Given the description of an element on the screen output the (x, y) to click on. 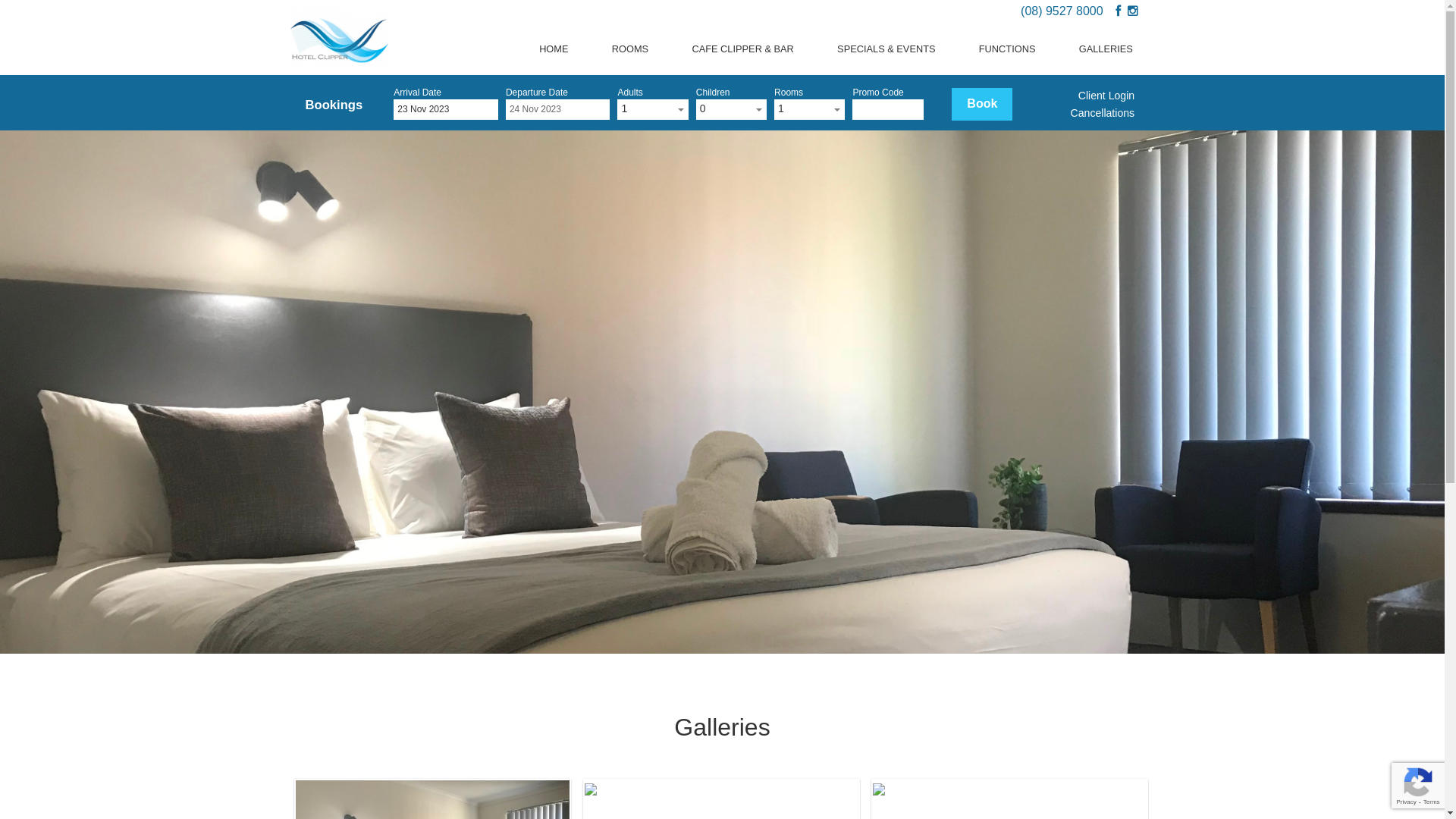
Instagram Element type: hover (1131, 10)
(08) 9527 8000 Element type: text (1061, 10)
Book Element type: text (981, 103)
SPECIALS & EVENTS Element type: text (886, 48)
ROOMS Element type: text (629, 48)
FUNCTIONS Element type: text (1007, 48)
Cancellations Element type: text (1102, 112)
CAFE CLIPPER & BAR Element type: text (742, 48)
Facebook Element type: hover (1117, 10)
HOME Element type: text (553, 48)
GALLERIES Element type: text (1105, 48)
Client Login Element type: text (1106, 95)
